Given the description of an element on the screen output the (x, y) to click on. 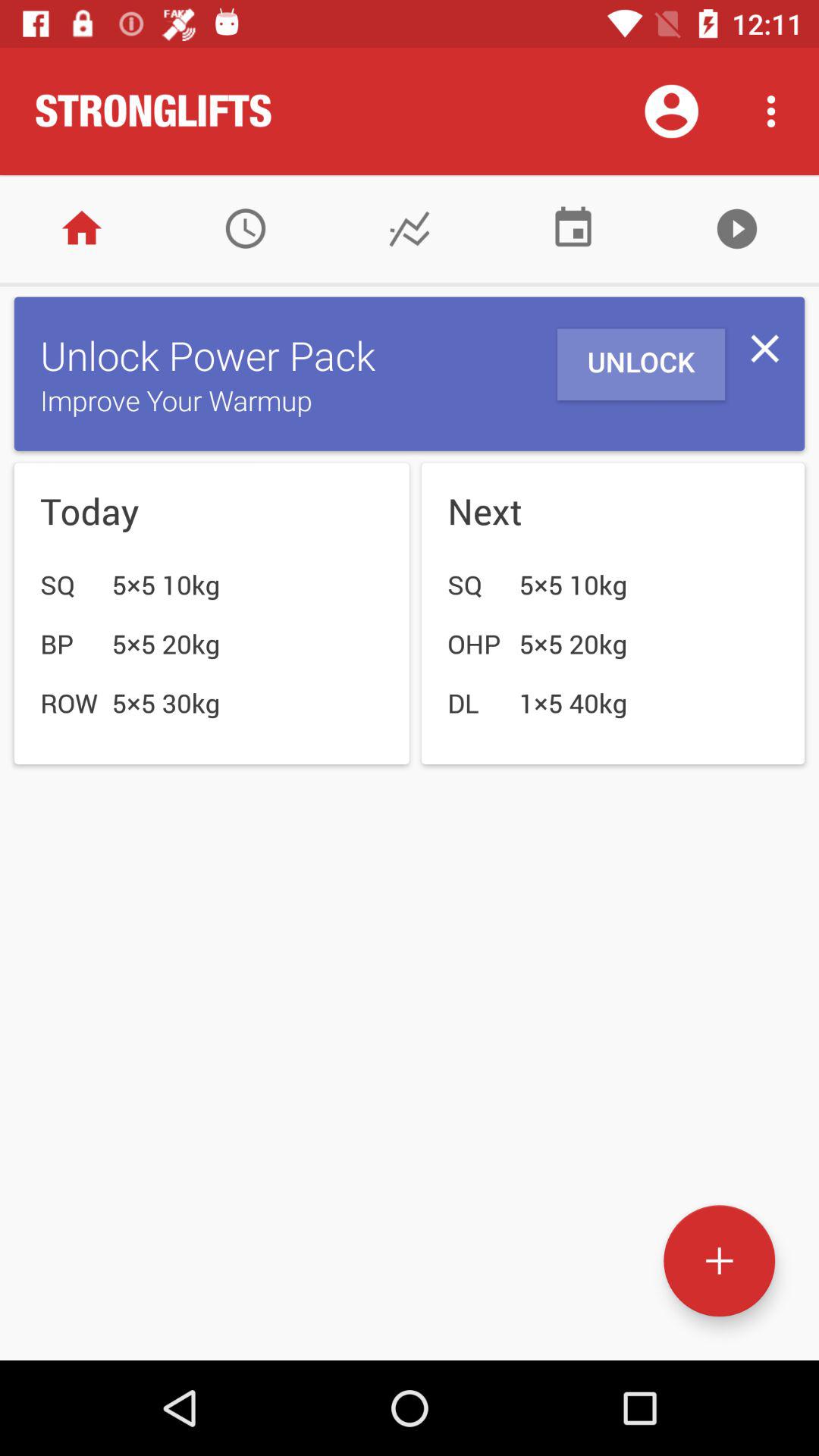
click icon at the bottom right corner (719, 1260)
